Given the description of an element on the screen output the (x, y) to click on. 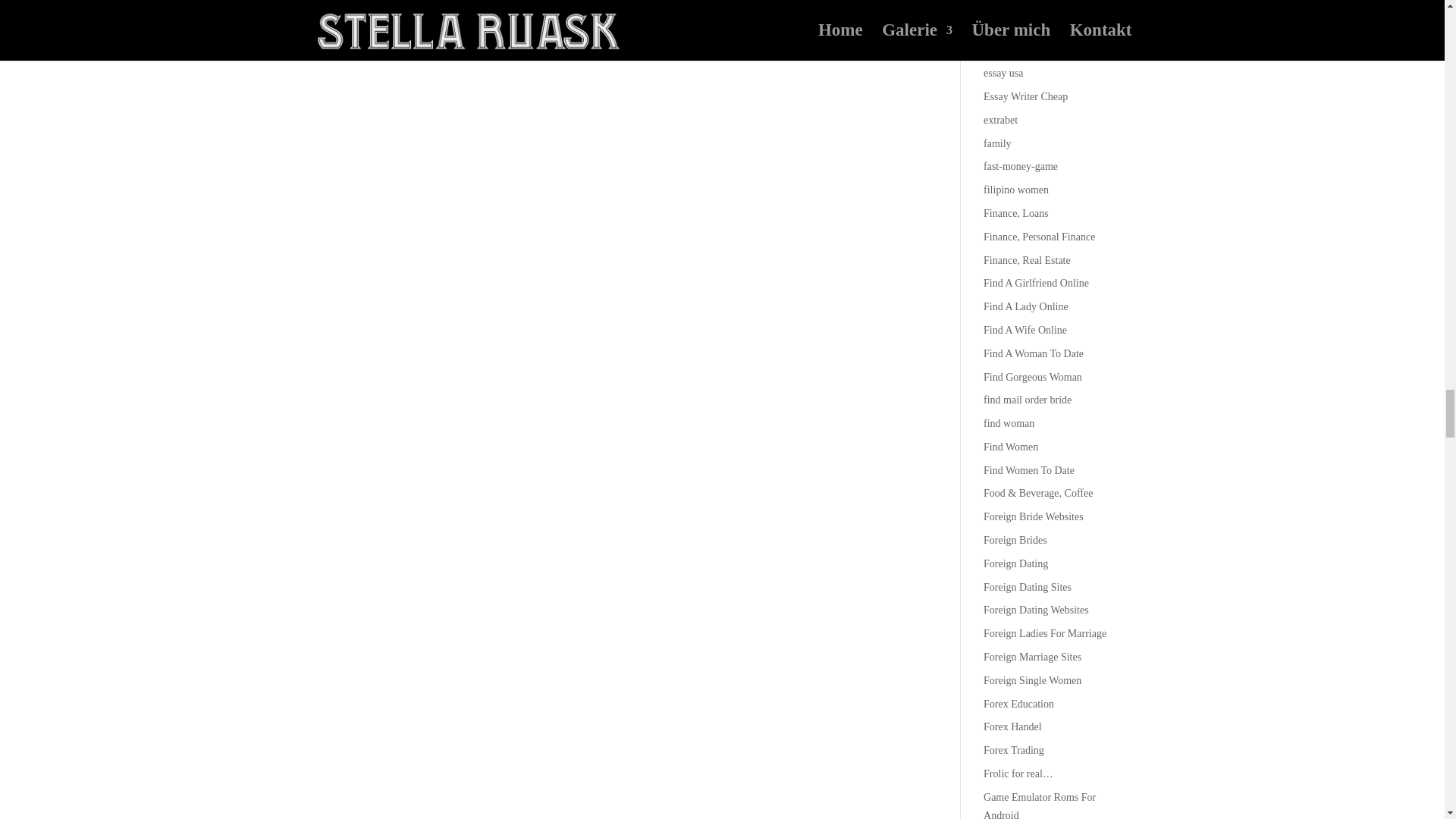
Finance, Loans (1016, 213)
Finance, Personal Finance (1039, 236)
Finance, Real Estate (1027, 260)
